Given the description of an element on the screen output the (x, y) to click on. 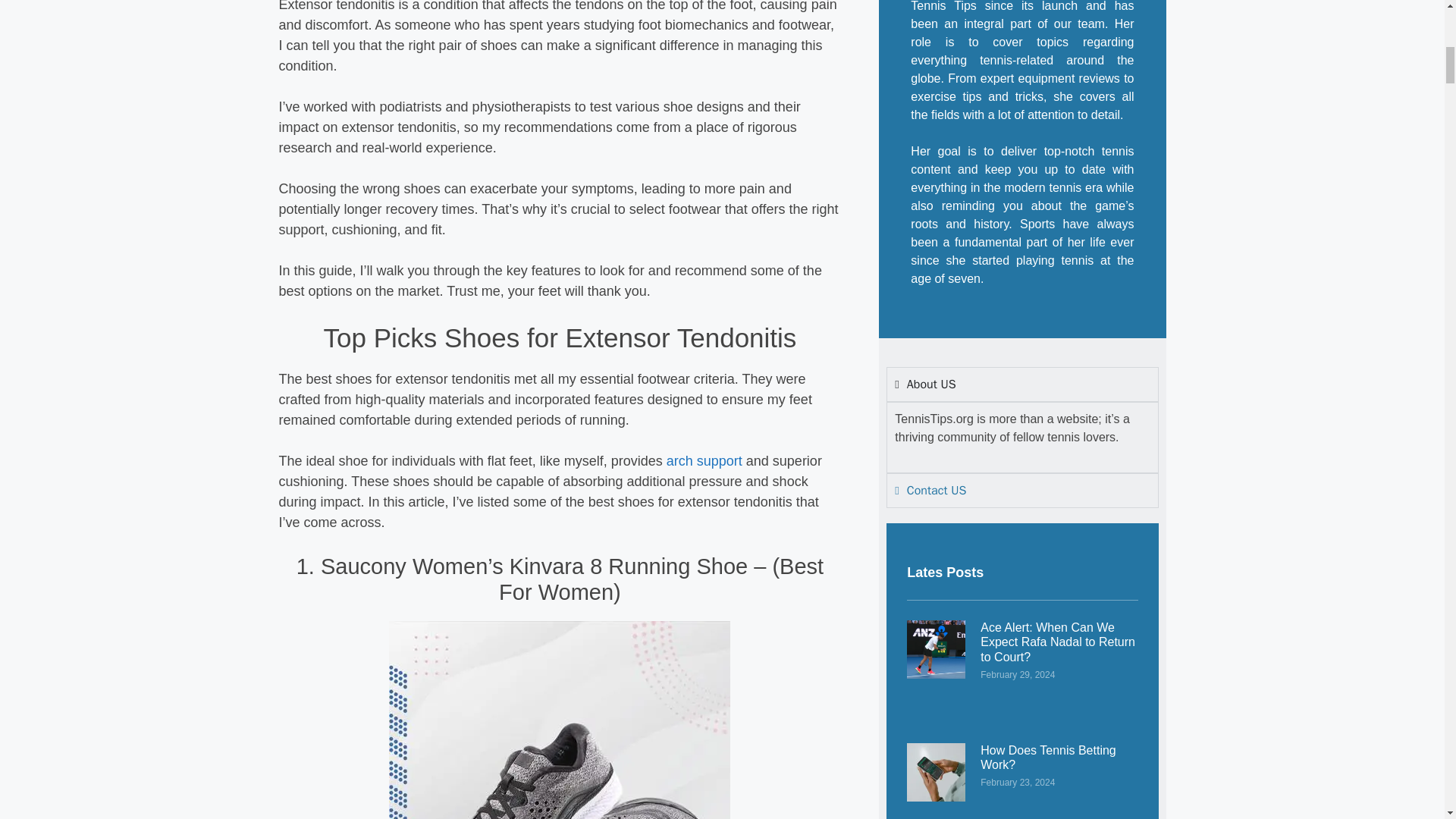
arch support (704, 460)
